Given the description of an element on the screen output the (x, y) to click on. 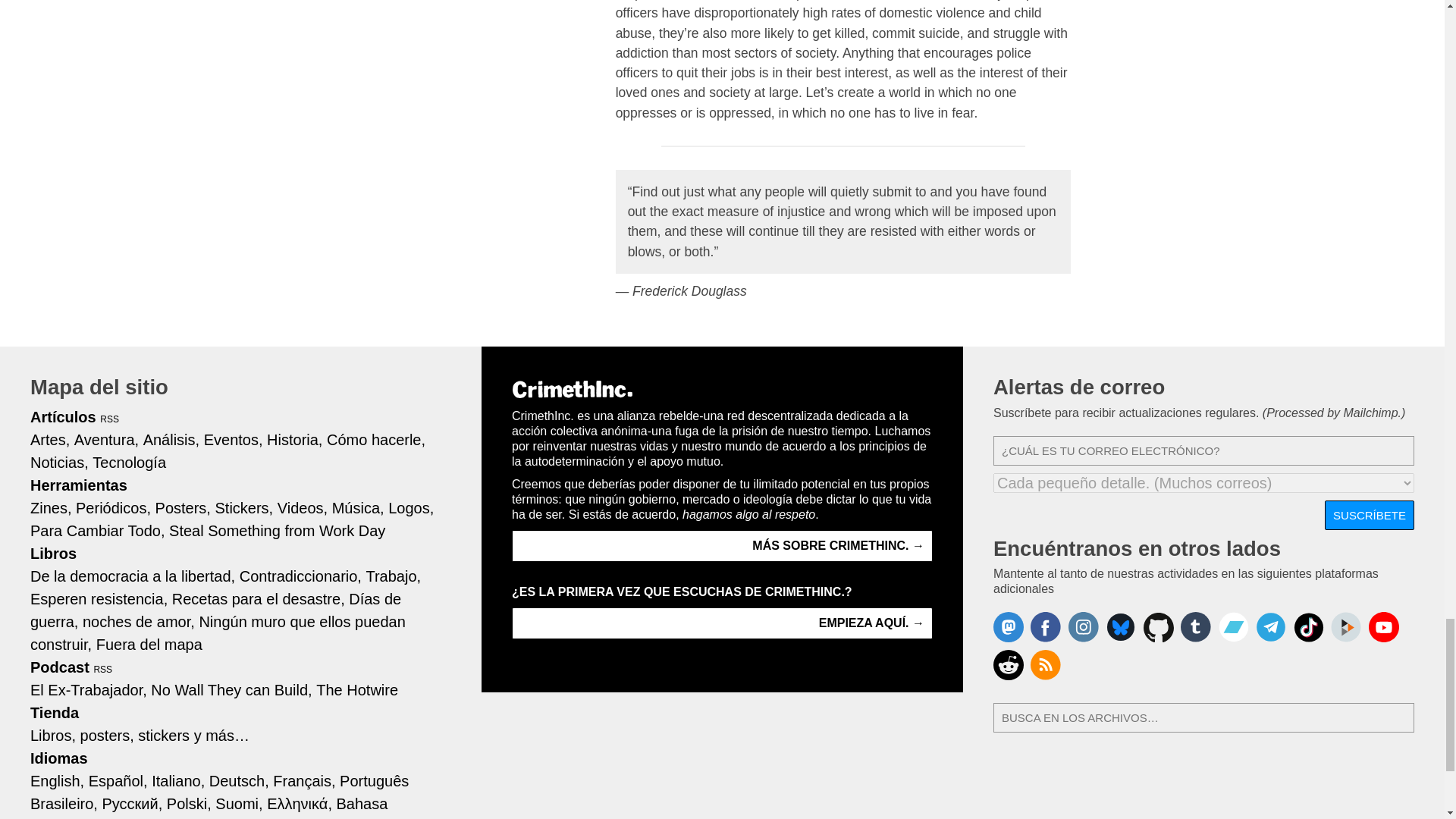
Eventos (233, 438)
Historia (293, 438)
Herramientas (79, 484)
RSS (109, 419)
Logos (410, 506)
Aventura (106, 438)
Artes (49, 438)
Posters (183, 506)
Noticias (59, 461)
Stickers (243, 506)
Videos (302, 506)
Zines (50, 506)
